Given the description of an element on the screen output the (x, y) to click on. 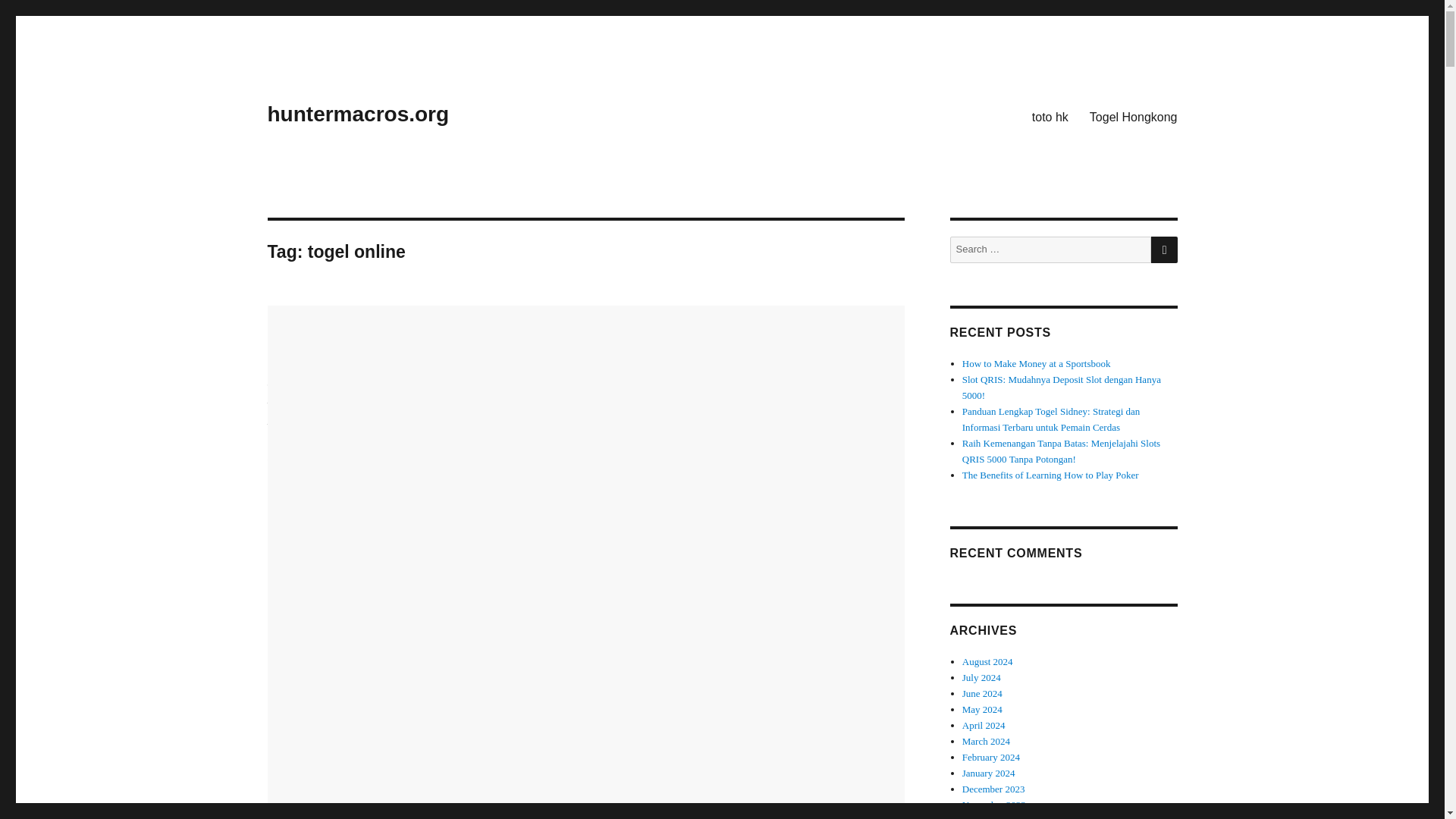
togel (277, 404)
Togel Hongkong (1133, 116)
togel hari ini (320, 425)
togel hongkong (320, 433)
huntermacros.org (357, 114)
togel singapore (329, 449)
toto hk (1050, 116)
togel (277, 425)
How to Play the Lottery Online (486, 323)
togel online (340, 441)
January 20, 2023 (304, 383)
